Given the description of an element on the screen output the (x, y) to click on. 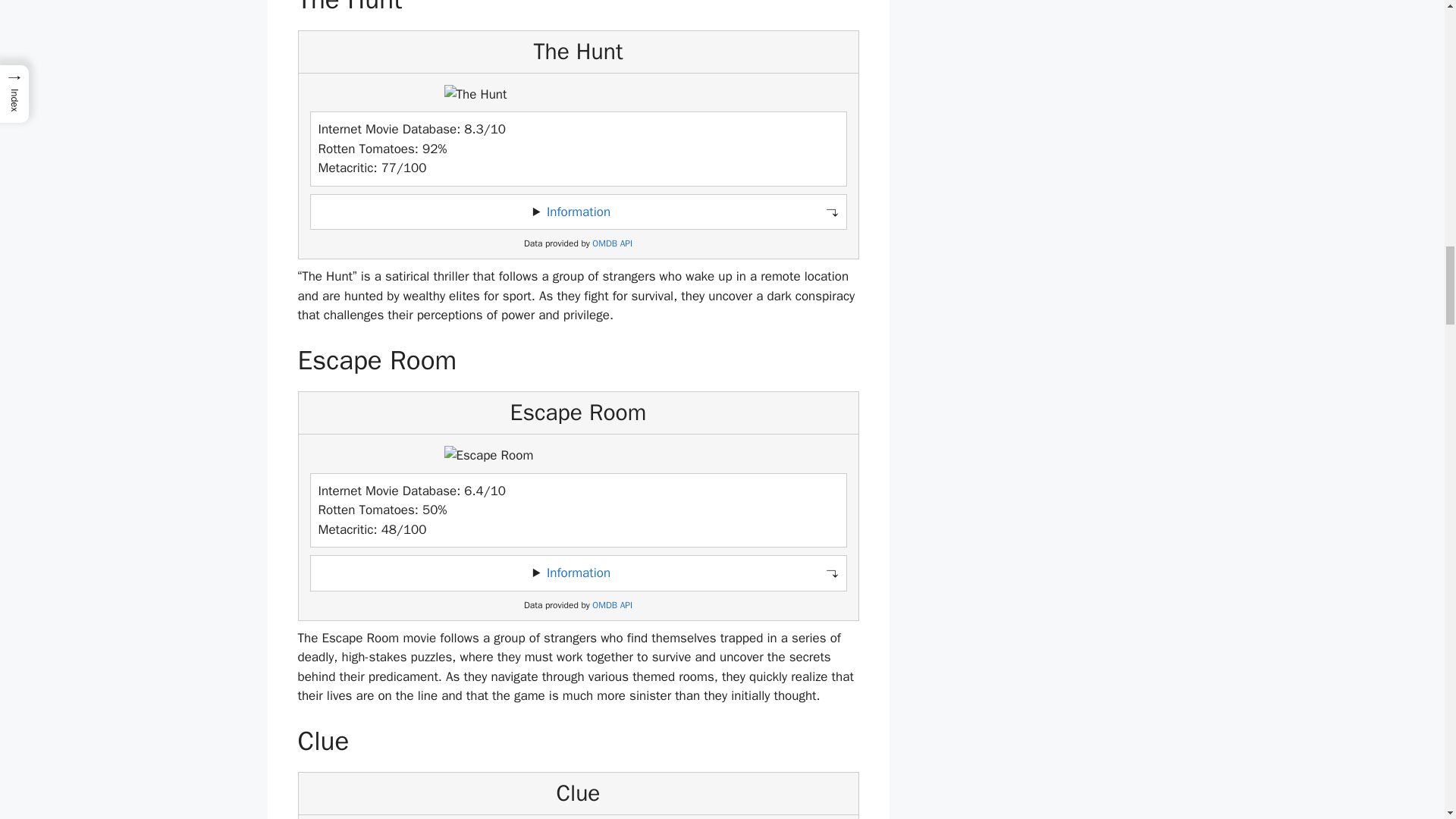
Toggle information (578, 212)
Information (578, 211)
OMDB API (611, 243)
OMDB API (611, 604)
Information (578, 572)
Open Movie Database API (611, 243)
